Given the description of an element on the screen output the (x, y) to click on. 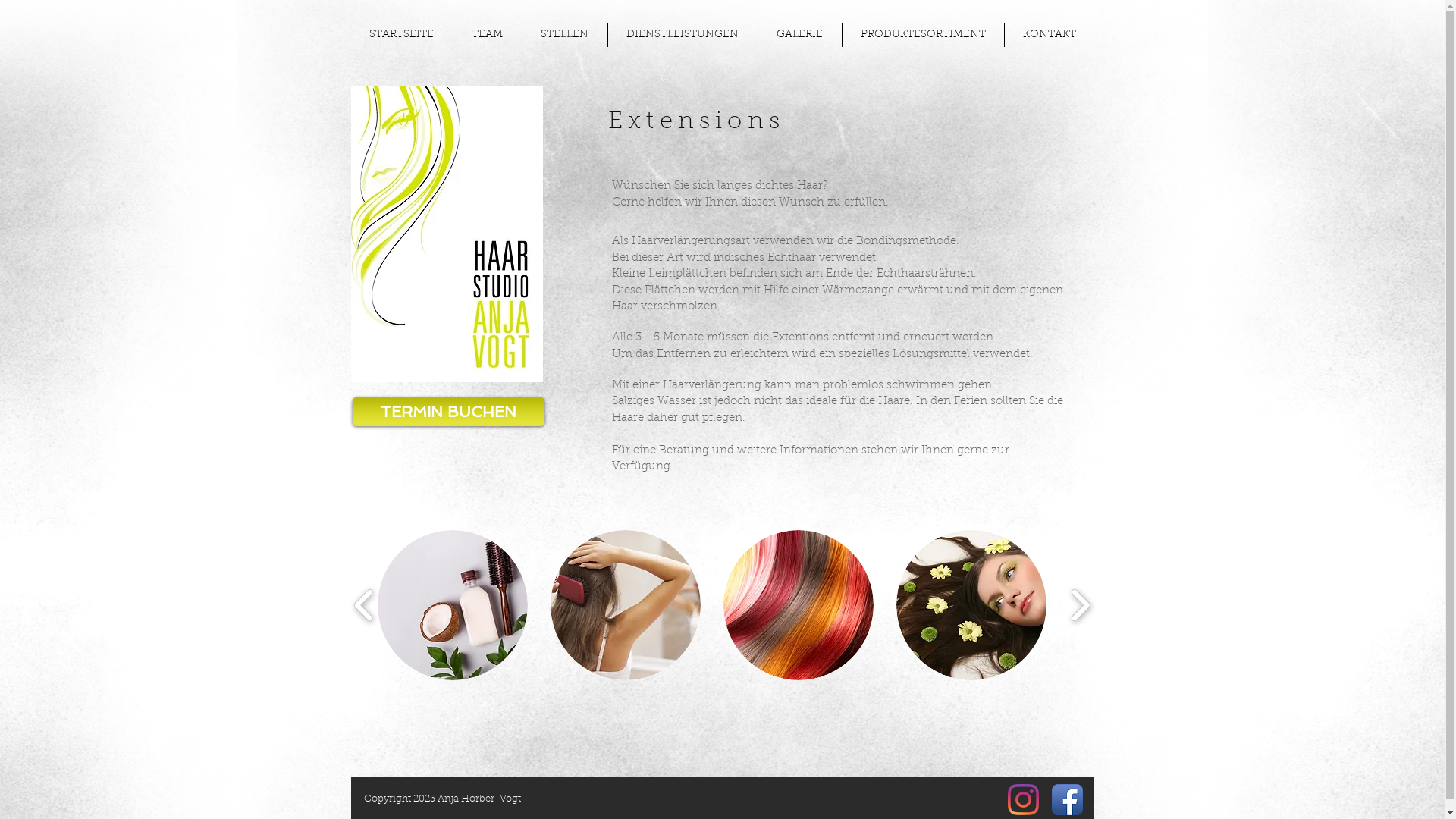
STARTSEITE Element type: text (400, 34)
GALERIE Element type: text (799, 34)
TERMIN BUCHEN Element type: text (447, 411)
TEAM Element type: text (487, 34)
DIENSTLEISTUNGEN Element type: text (682, 34)
PRODUKTESORTIMENT Element type: text (922, 34)
STELLEN Element type: text (563, 34)
KONTAKT Element type: text (1048, 34)
